Given the description of an element on the screen output the (x, y) to click on. 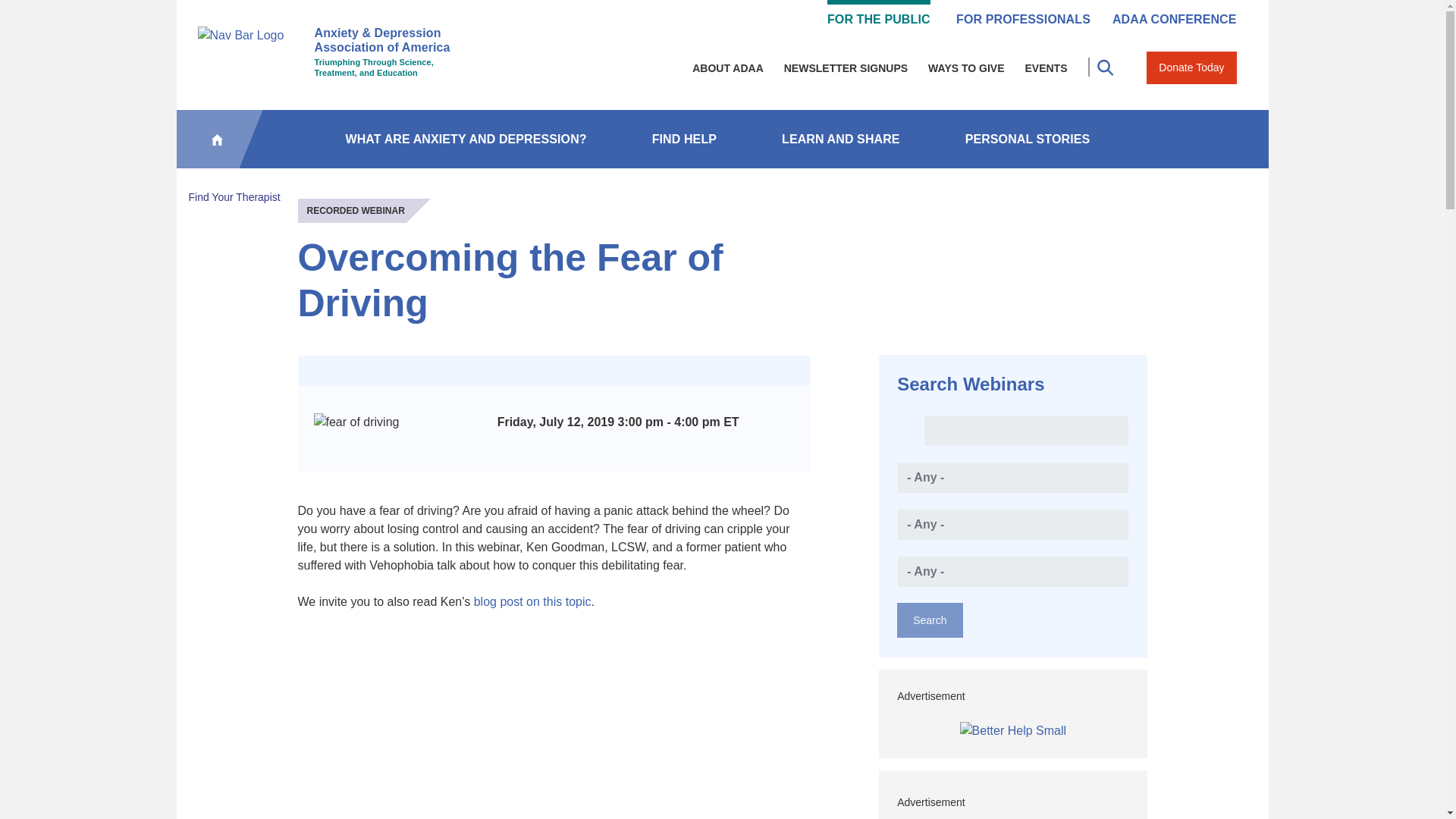
WAYS TO GIVE (966, 68)
WHAT ARE ANXIETY AND DEPRESSION? (465, 138)
Search keywords (1025, 430)
FOR PROFESSIONALS (1023, 14)
Skip to main content (721, 1)
FOR THE PUBLIC (878, 14)
Donate Today (1191, 67)
ADAA CONFERENCE (1174, 14)
ABOUT ADAA (727, 68)
More about the ads we serve (1012, 695)
